Given the description of an element on the screen output the (x, y) to click on. 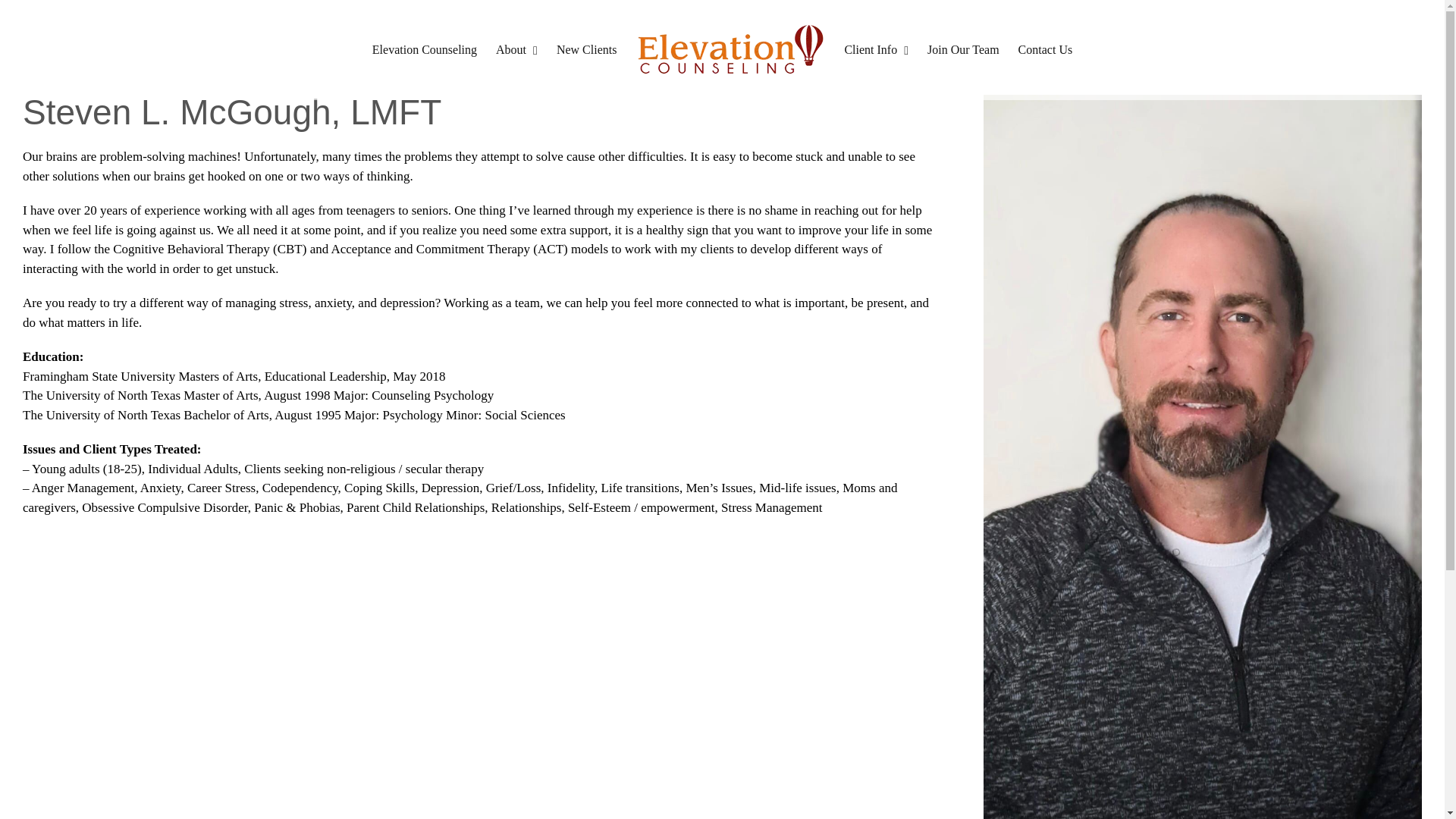
Elevation Counseling (424, 49)
